Given the description of an element on the screen output the (x, y) to click on. 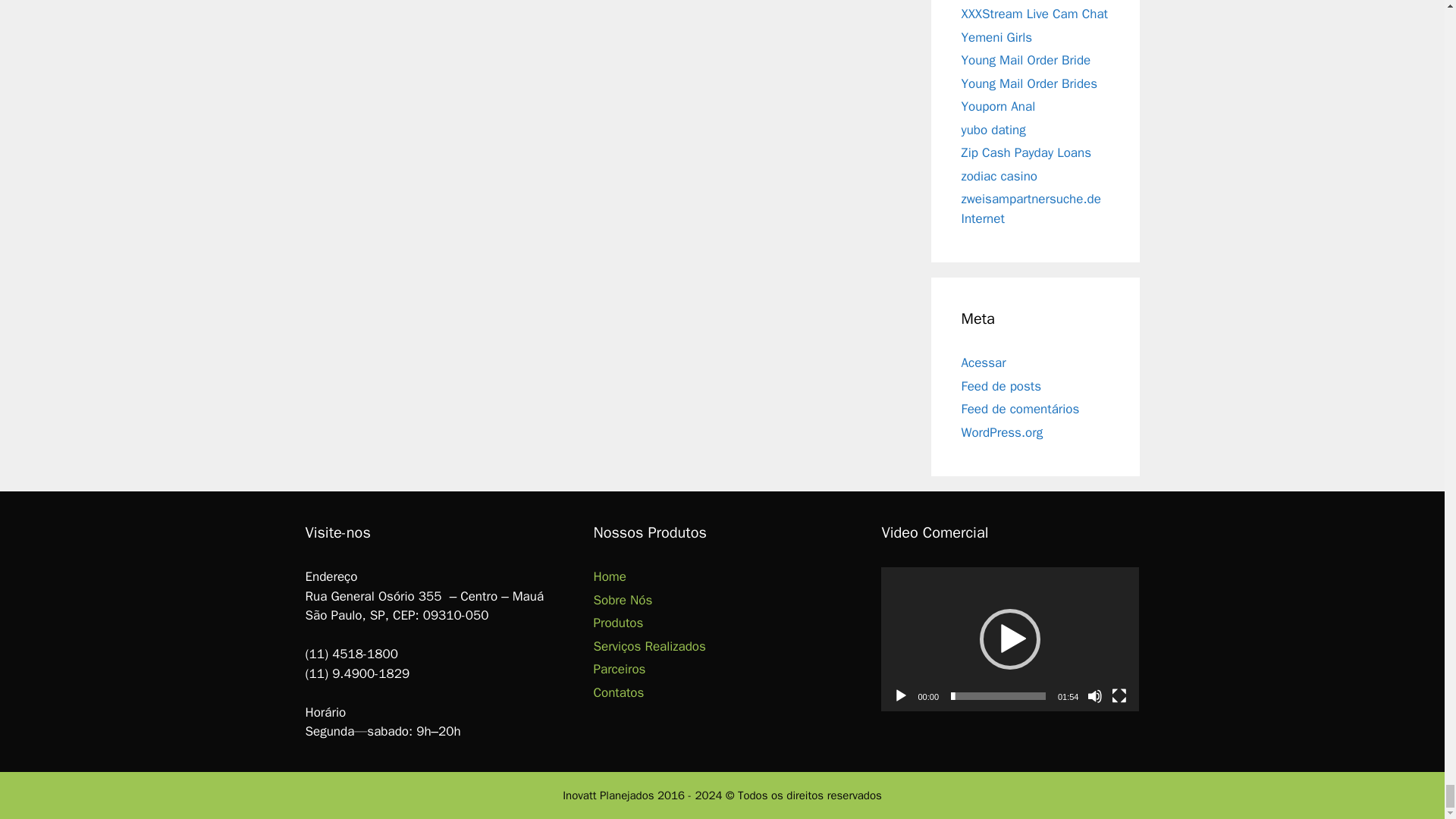
Mudo (1094, 695)
Tela inteira (1119, 695)
Reproduzir (900, 695)
